Given the description of an element on the screen output the (x, y) to click on. 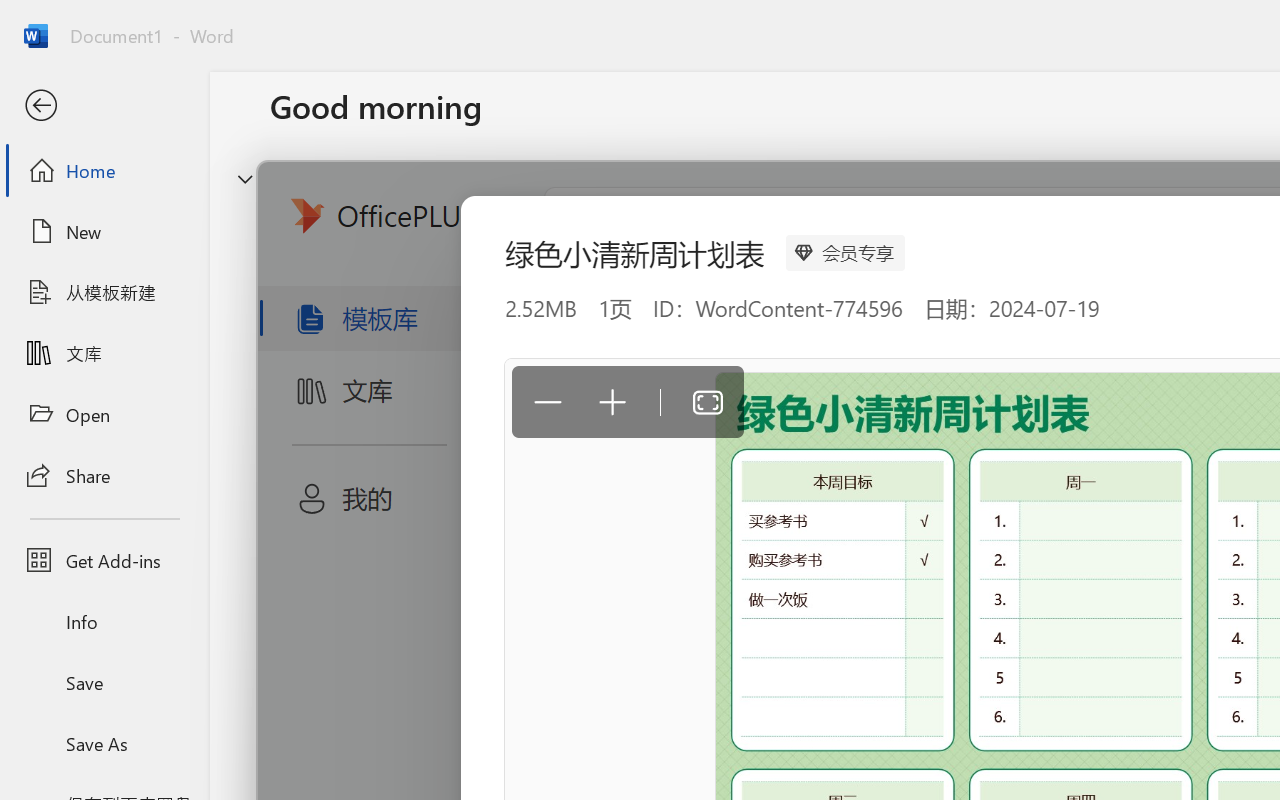
Who is my administrator? - Google Account Help (509, 22)
Google News (89, 22)
Chrome Web Store (1167, 561)
